Given the description of an element on the screen output the (x, y) to click on. 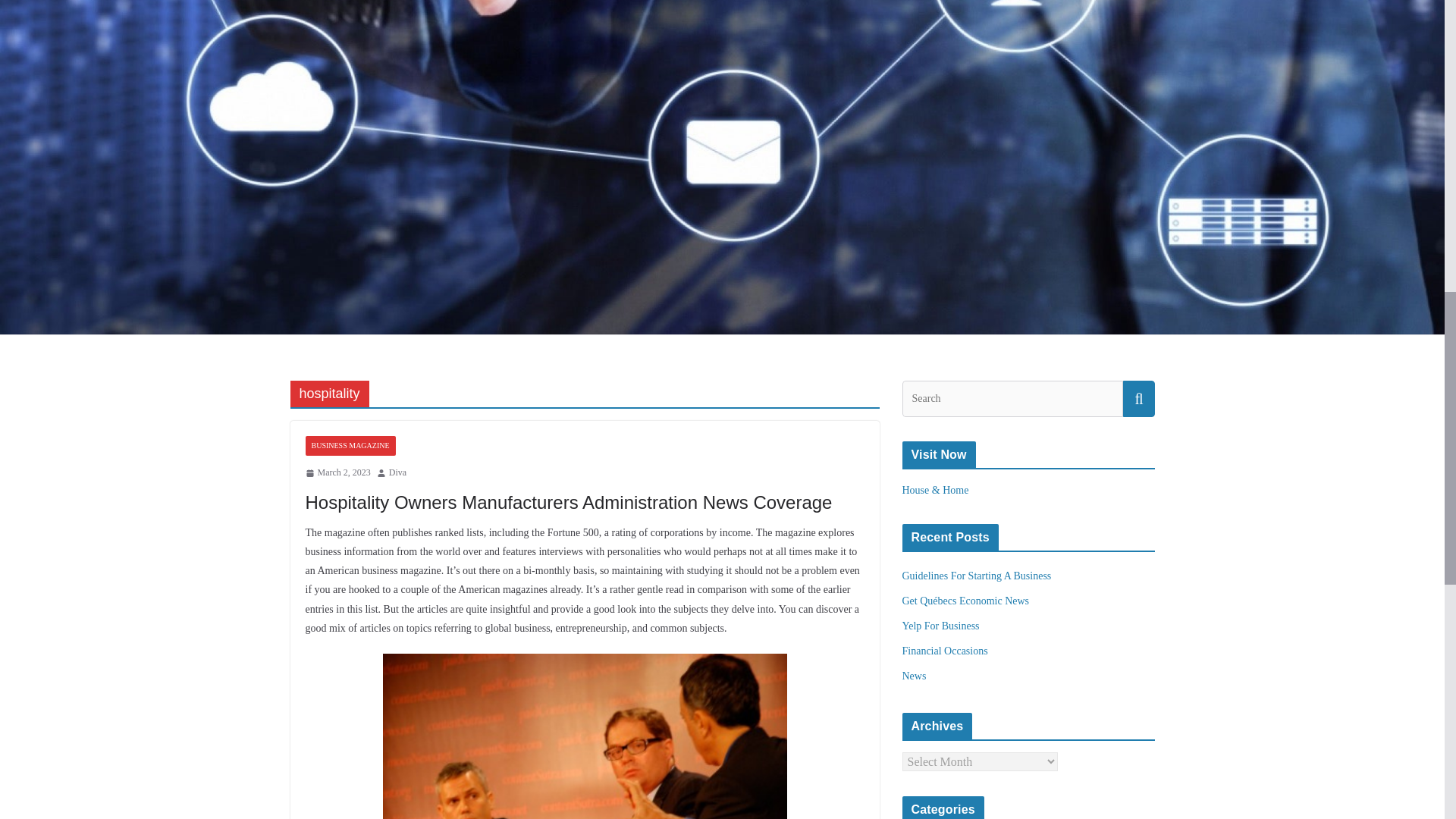
BUSINESS MAGAZINE (349, 445)
Diva (397, 473)
Diva (397, 473)
March 2, 2023 (336, 473)
2:23 am (336, 473)
